Given the description of an element on the screen output the (x, y) to click on. 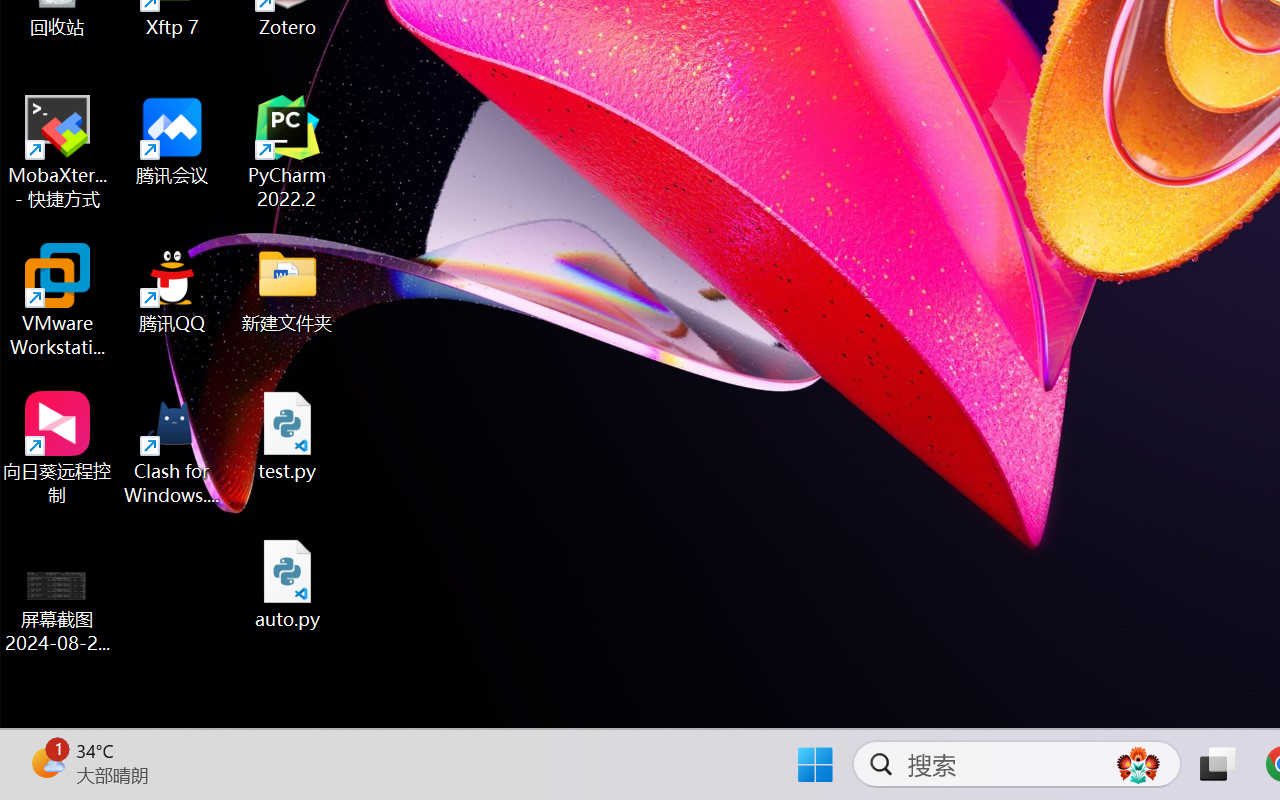
PyCharm 2022.2 (287, 152)
VMware Workstation Pro (57, 300)
